Given the description of an element on the screen output the (x, y) to click on. 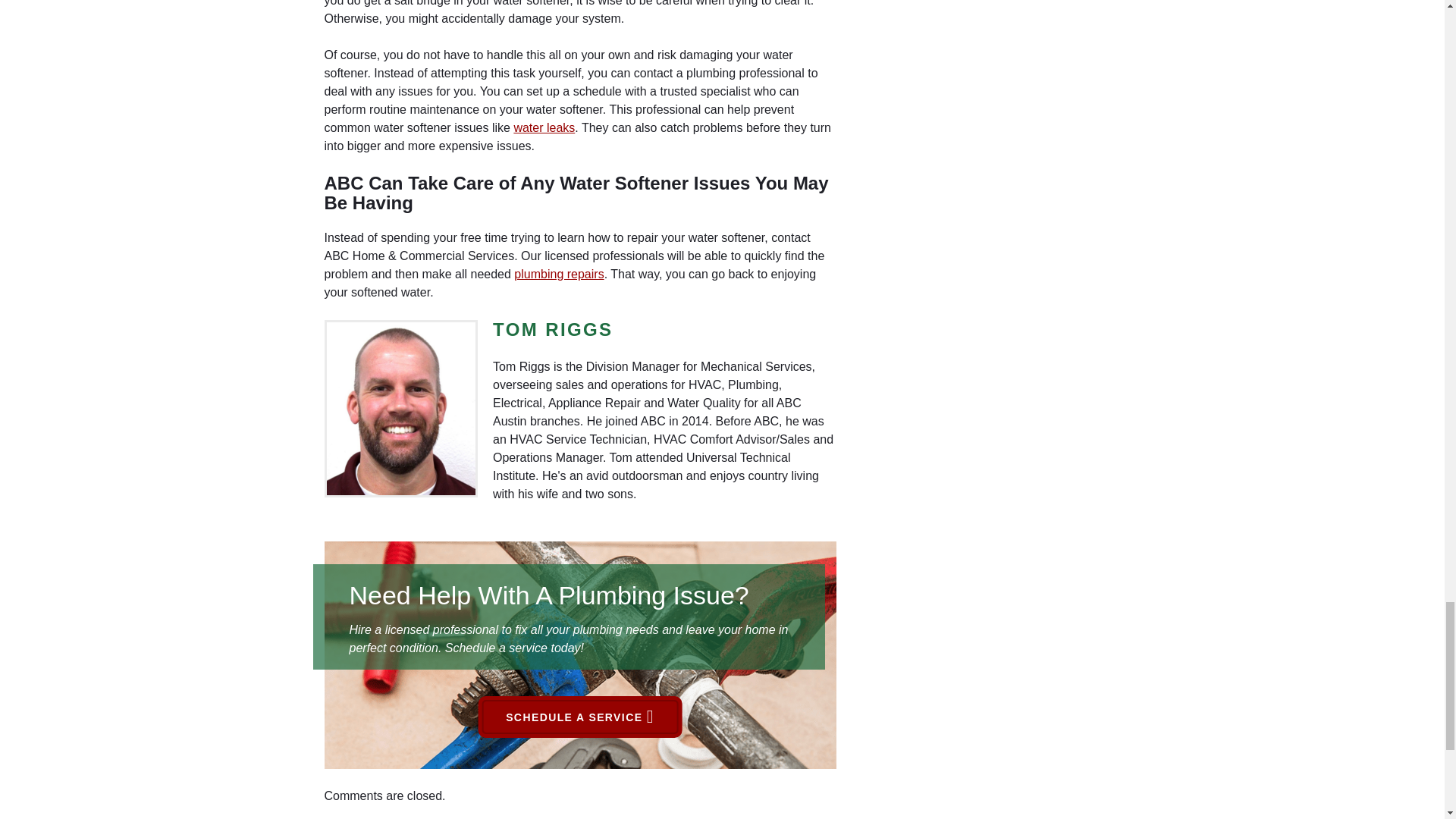
plumbing repairs (558, 273)
water leaks (544, 127)
